Given the description of an element on the screen output the (x, y) to click on. 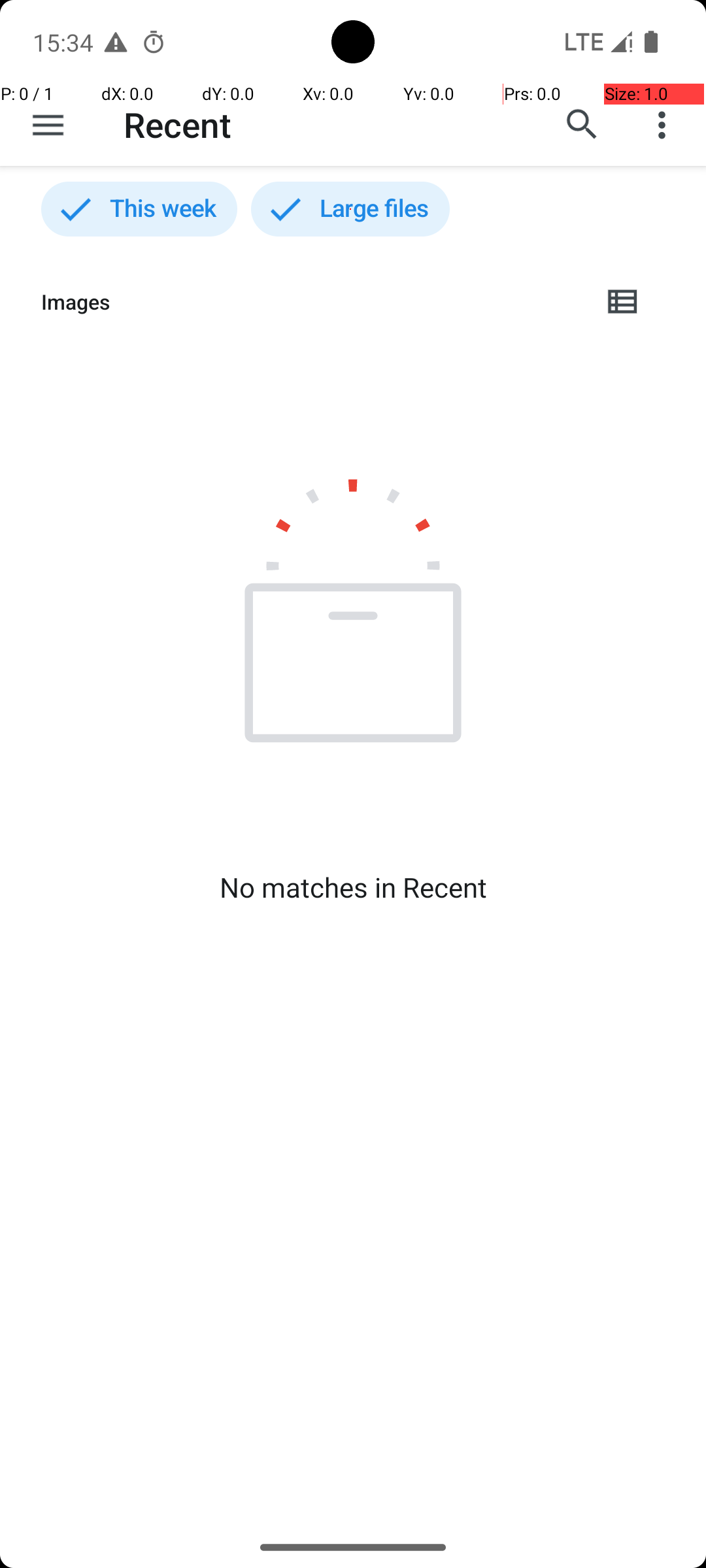
No matches in Recent Element type: android.widget.TextView (352, 886)
